Given the description of an element on the screen output the (x, y) to click on. 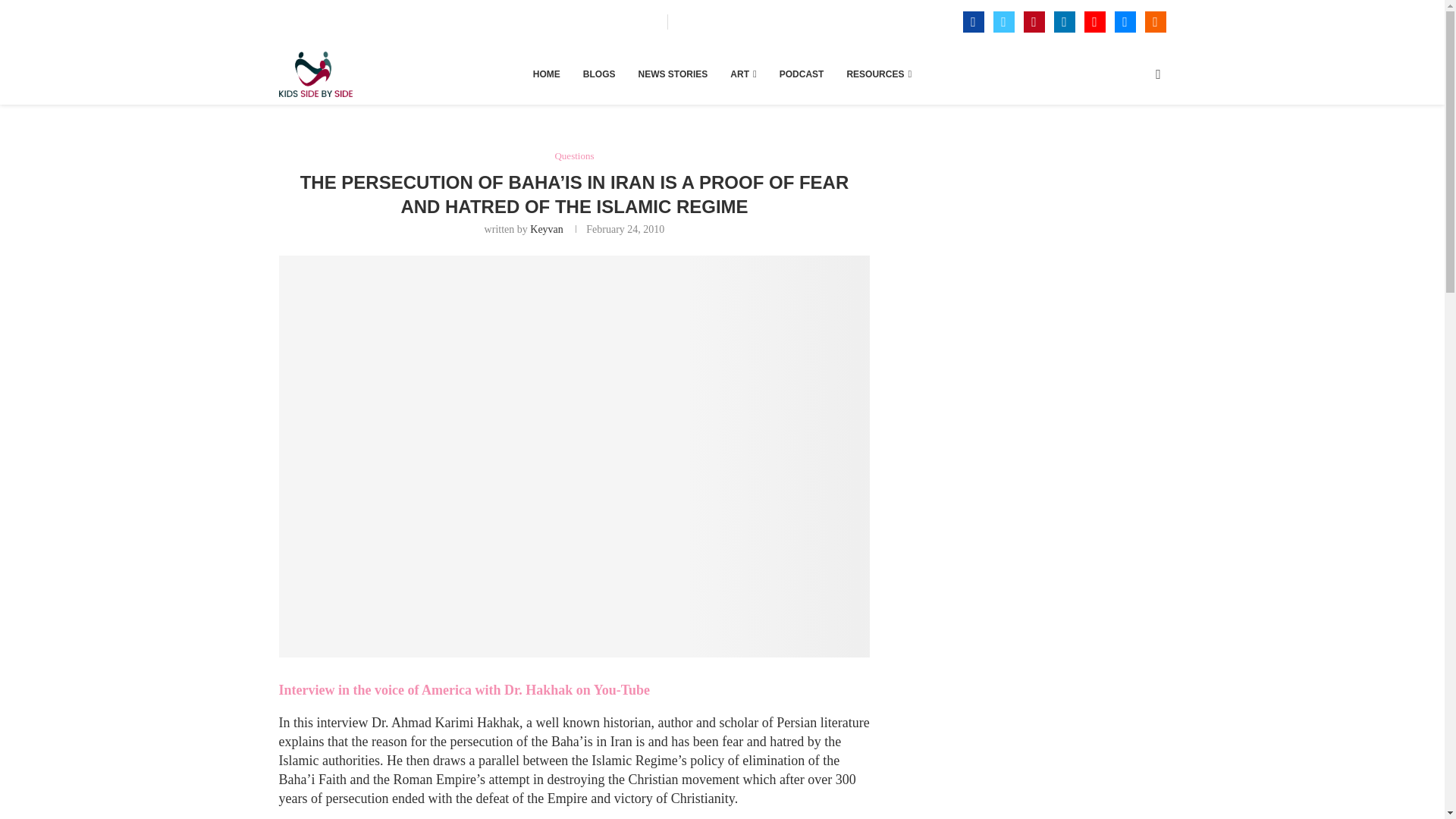
NEWS STORIES (673, 74)
RESOURCES (878, 74)
Interview with Dr. Hakhak (574, 690)
PODCAST (801, 74)
